Given the description of an element on the screen output the (x, y) to click on. 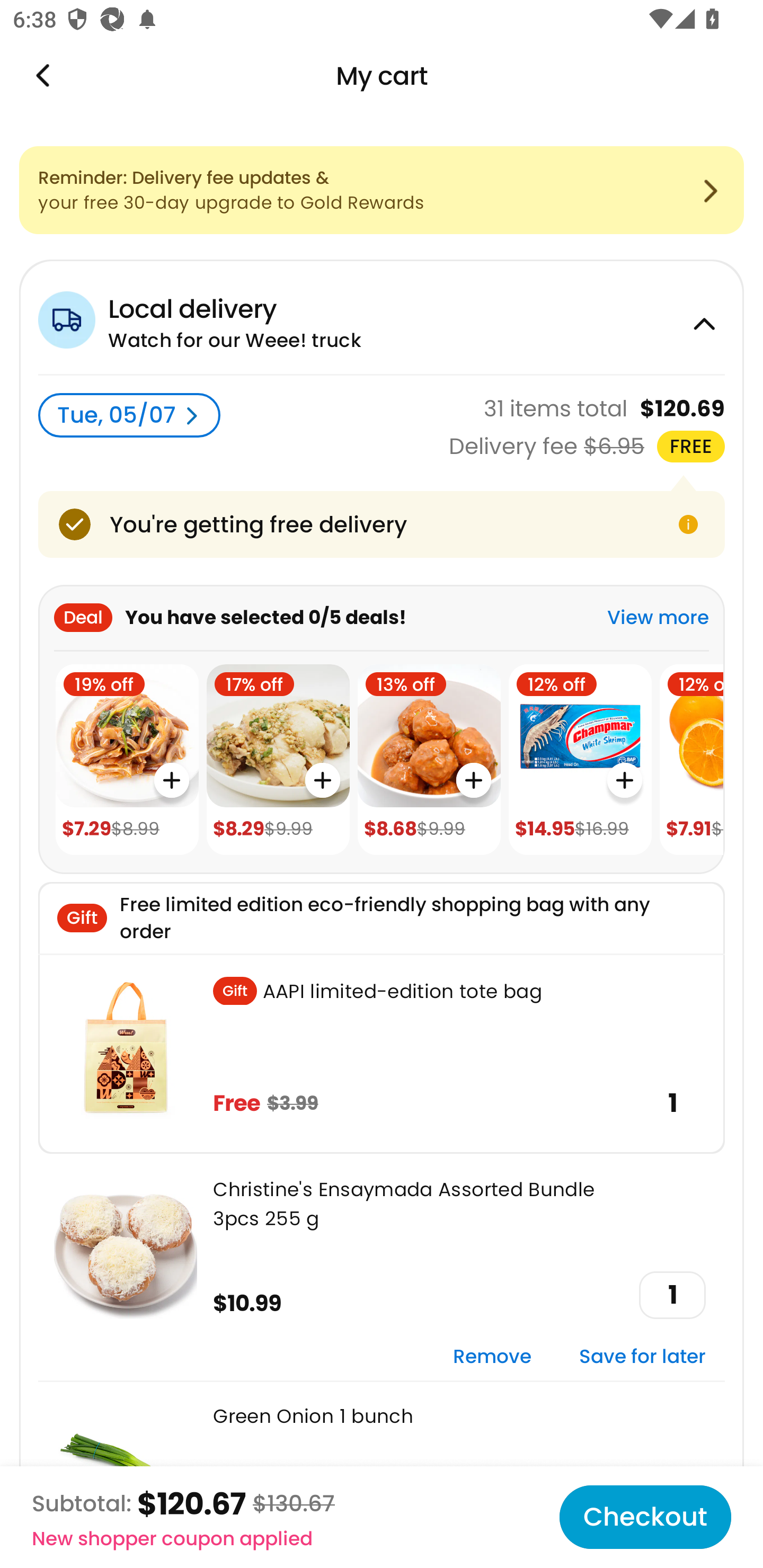
Local delivery Watch for our Weee! truck (381, 317)
Tue, 05/07 (129, 415)
You're getting free delivery (381, 524)
19% off $7.29 $8.99 (126, 759)
17% off $8.29 $9.99 (277, 759)
13% off $8.68 $9.99 (428, 759)
12% off $14.95 $16.99 (579, 759)
. AAPI limited-edition tote bag Free $3.99 1 (381, 1053)
1 (672, 1294)
Remove (491, 1356)
Save for later (642, 1356)
Green Onion 1 bunch $1.38 2 Remove Save for later (381, 1473)
Checkout (644, 1516)
